Given the description of an element on the screen output the (x, y) to click on. 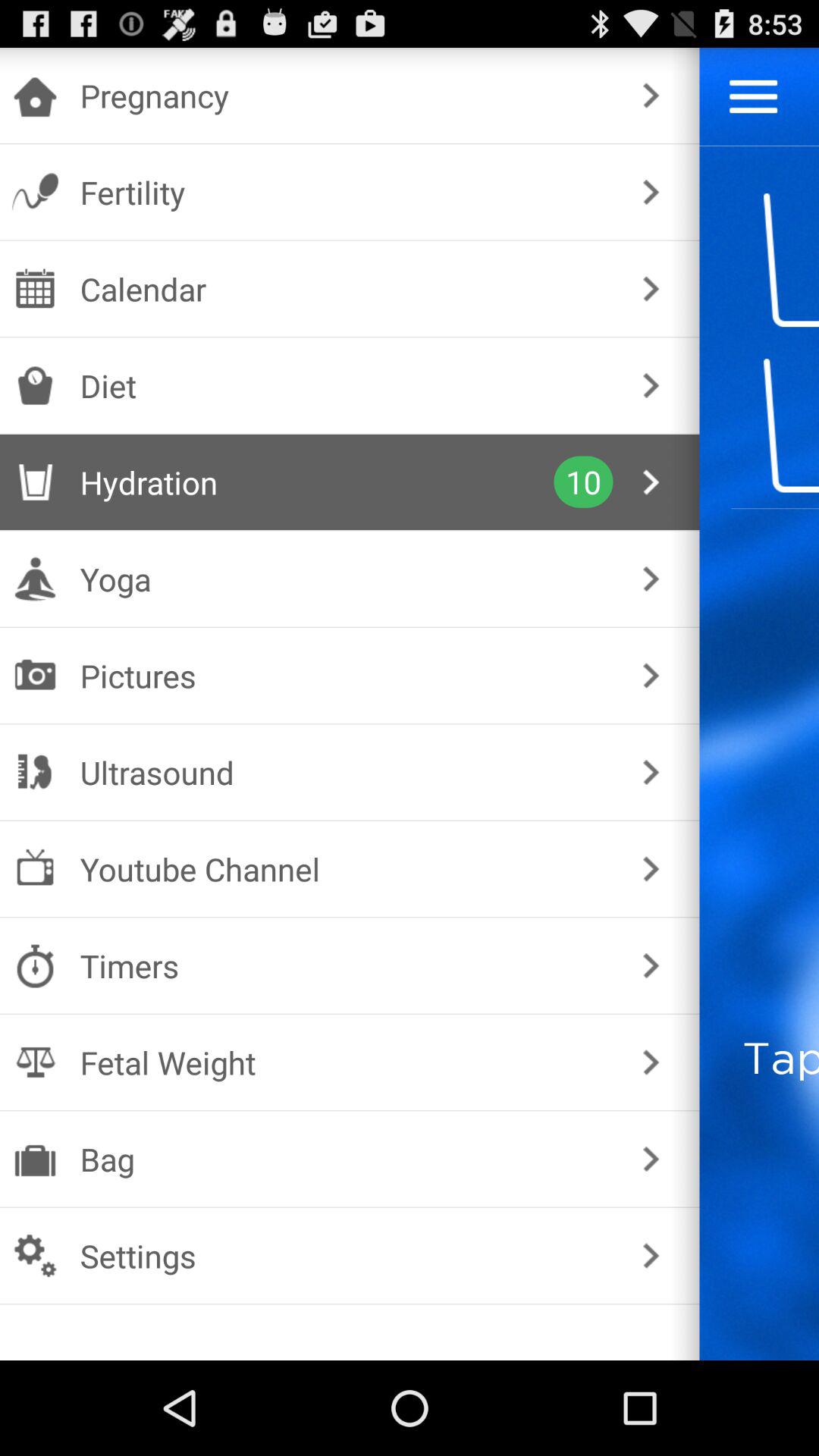
click the item above the ultrasound item (346, 675)
